Given the description of an element on the screen output the (x, y) to click on. 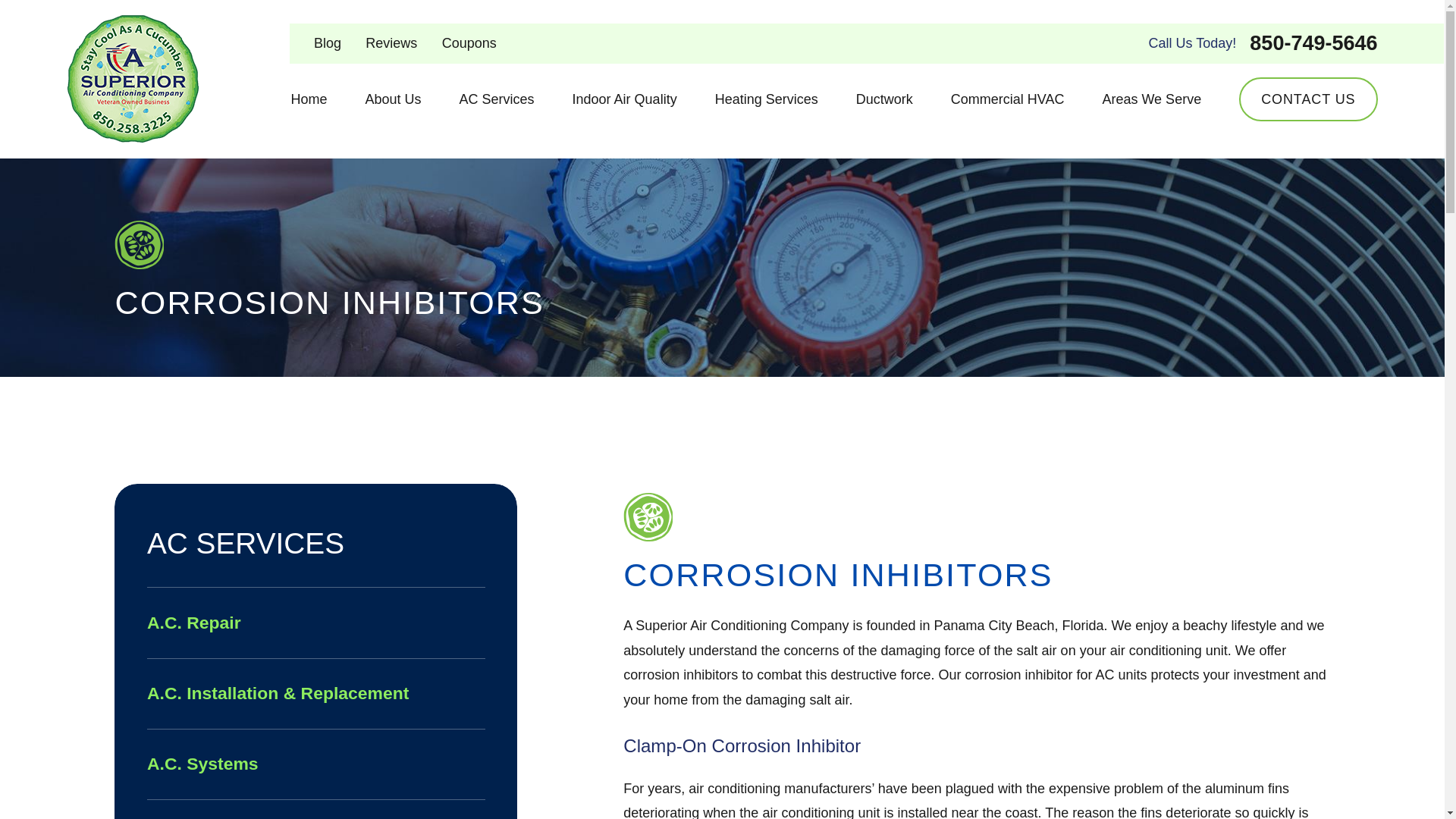
850-749-5646 (1313, 43)
Coupons (469, 43)
AC Services (497, 98)
Home (307, 98)
Home (132, 78)
Reviews (390, 43)
Indoor Air Quality (624, 98)
About Us (392, 98)
Commercial HVAC (1007, 98)
Ductwork (884, 98)
Heating Services (766, 98)
Blog (327, 43)
Areas We Serve (1151, 98)
